Given the description of an element on the screen output the (x, y) to click on. 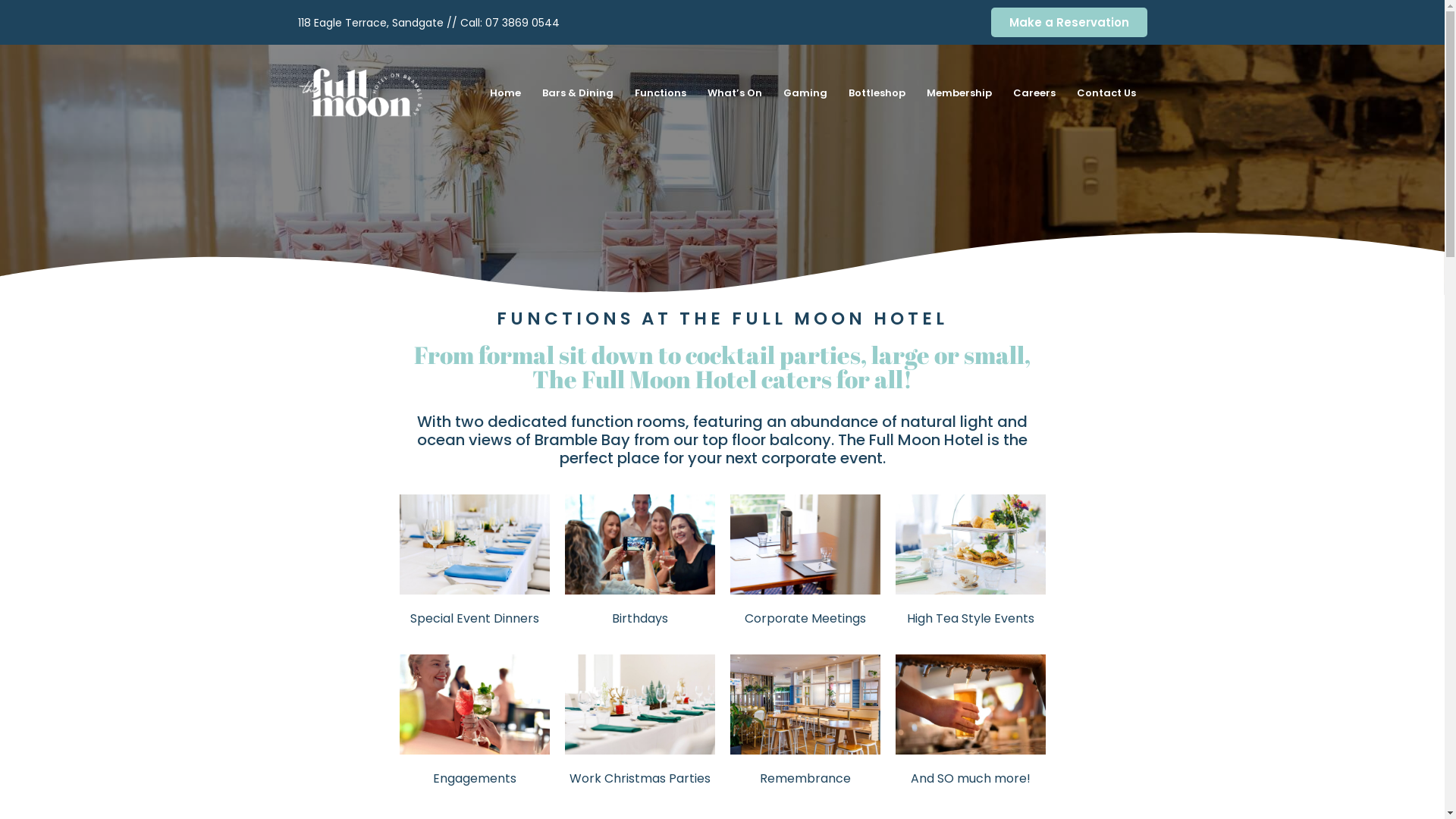
Gaming Element type: text (804, 92)
Make a Reservation Element type: text (1068, 22)
Careers Element type: text (1034, 92)
Bottleshop Element type: text (876, 92)
Membership Element type: text (959, 92)
FUNCTIONS AT THE FULL MOON HOTEL Element type: text (721, 318)
Functions Element type: text (660, 92)
Contact Us Element type: text (1106, 92)
Bars & Dining Element type: text (577, 92)
Home Element type: text (505, 92)
07 3869 0544 Element type: text (522, 22)
